Given the description of an element on the screen output the (x, y) to click on. 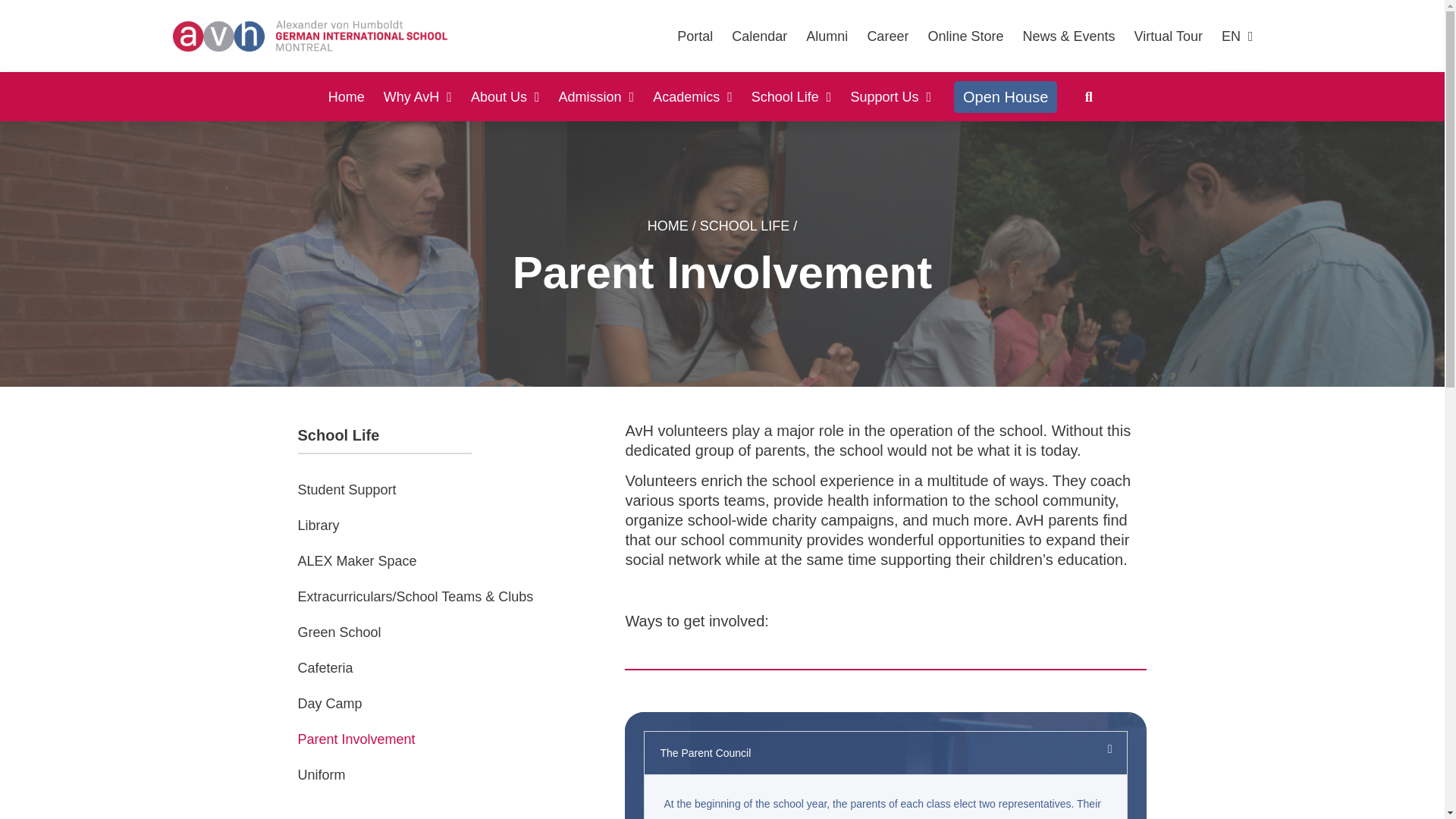
Home (347, 96)
Calendar (759, 35)
Virtual Tour (1168, 35)
Admission (596, 96)
About Us (505, 96)
Why AvH (417, 96)
Career (887, 35)
Alumni (826, 35)
Academics (692, 96)
Portal (695, 35)
